Given the description of an element on the screen output the (x, y) to click on. 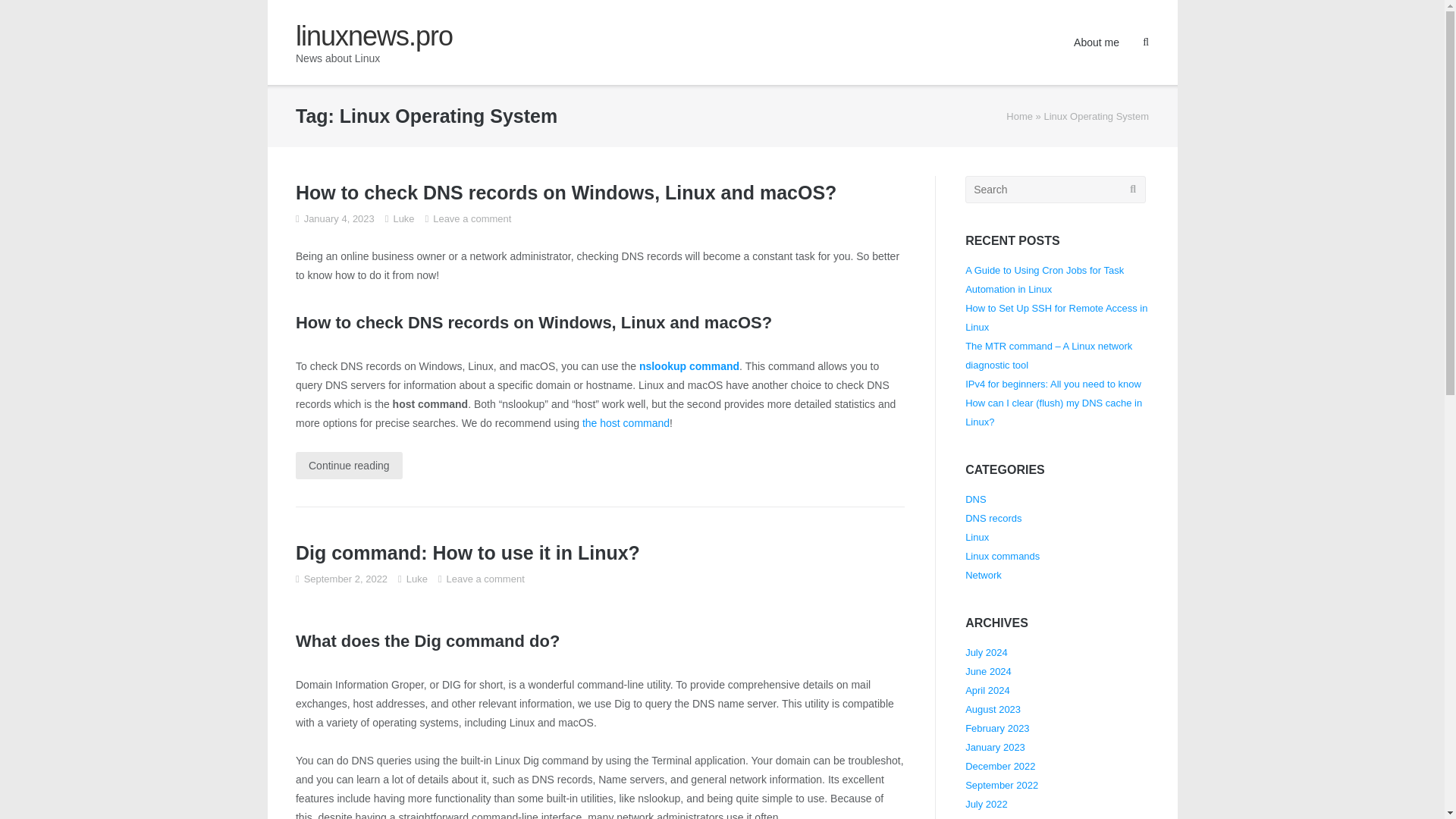
Dig command: How to use it in Linux? (467, 552)
Network (983, 574)
January 4, 2023 (339, 218)
September 2, 2022 (345, 578)
Leave a comment (485, 578)
Luke (417, 578)
Continue reading (349, 465)
Home (1019, 116)
How to check DNS records on Windows, Linux and macOS? (565, 192)
Luke (403, 218)
July 2024 (986, 652)
How to Set Up SSH for Remote Access in Linux (1056, 317)
the host command (625, 422)
DNS (975, 499)
linuxnews.pro (373, 36)
